Given the description of an element on the screen output the (x, y) to click on. 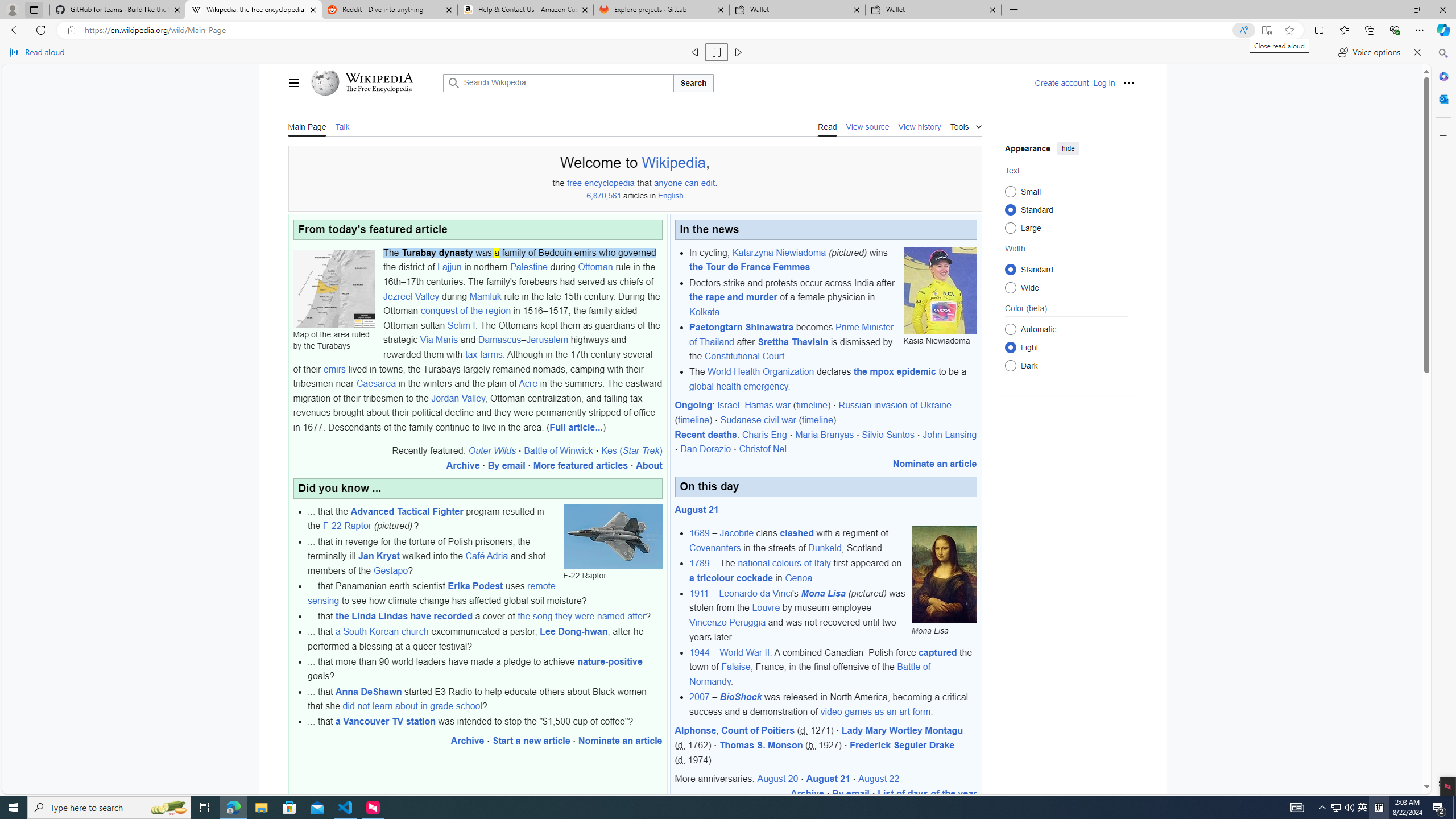
Srettha Thavisin (792, 341)
encyclopedia (608, 182)
Ottoman (595, 267)
Battle of Normandy (809, 673)
video games as an art form (874, 710)
Via Maris (438, 339)
Kasia Niewiadoma (939, 290)
captured (937, 652)
